Given the description of an element on the screen output the (x, y) to click on. 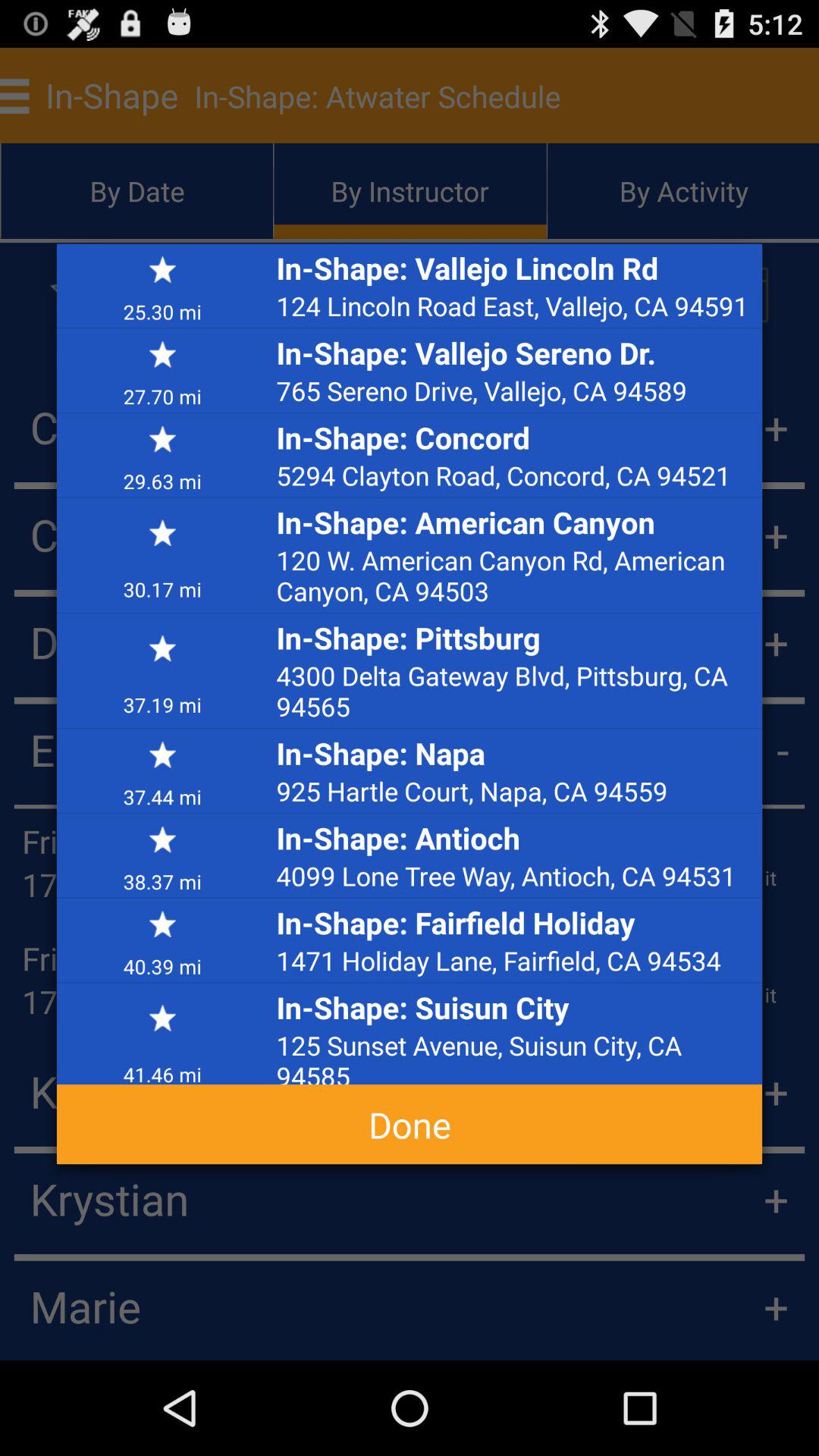
turn off icon next to in shape vallejo app (162, 395)
